Given the description of an element on the screen output the (x, y) to click on. 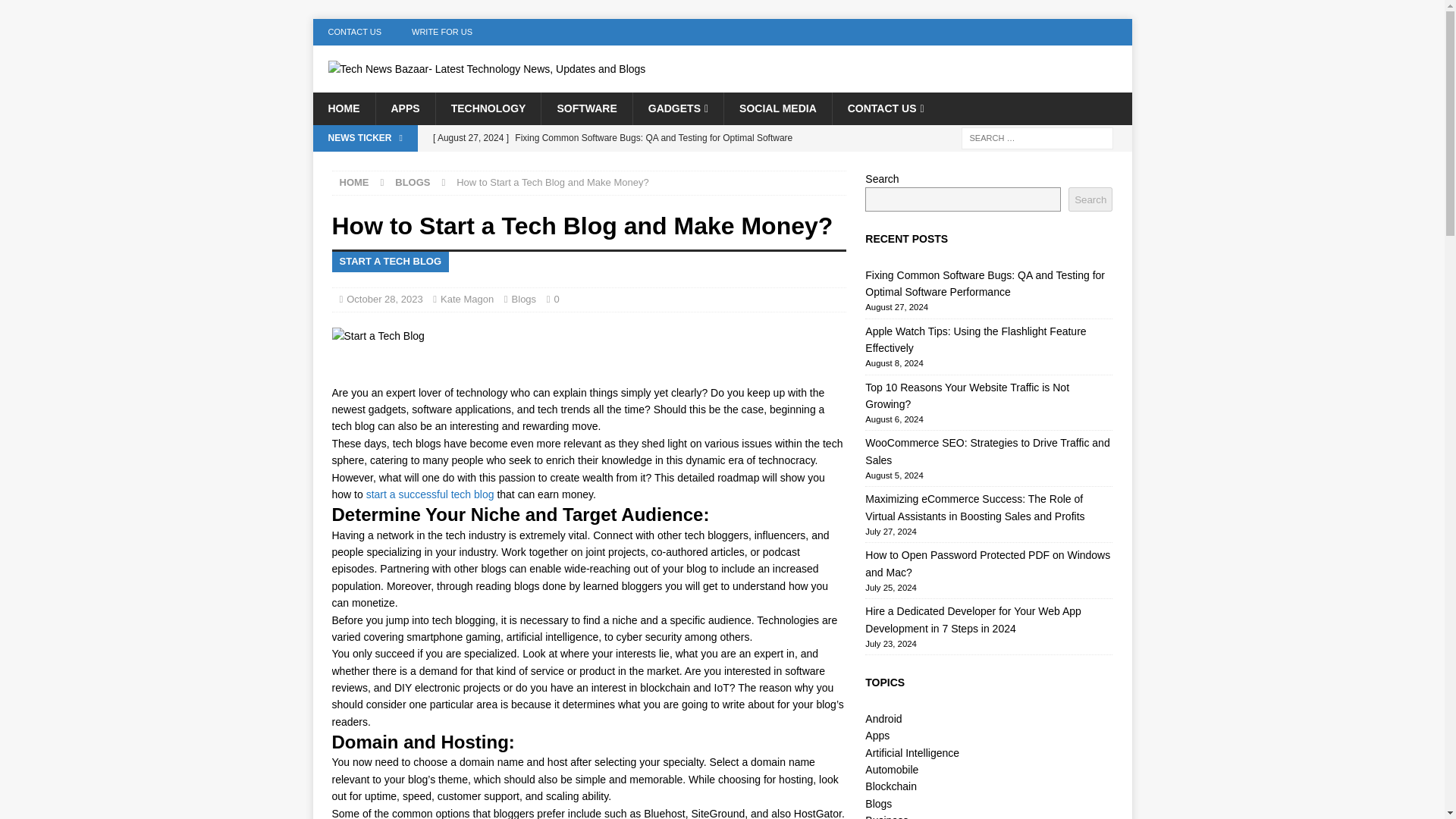
TECHNOLOGY (488, 108)
CONTACT US (885, 108)
October 28, 2023 (384, 298)
BLOGS (411, 182)
Blogs (524, 298)
HOME (354, 182)
start a successful tech blog (430, 494)
Kate Magon (467, 298)
Start a Tech Blog (378, 335)
